Given the description of an element on the screen output the (x, y) to click on. 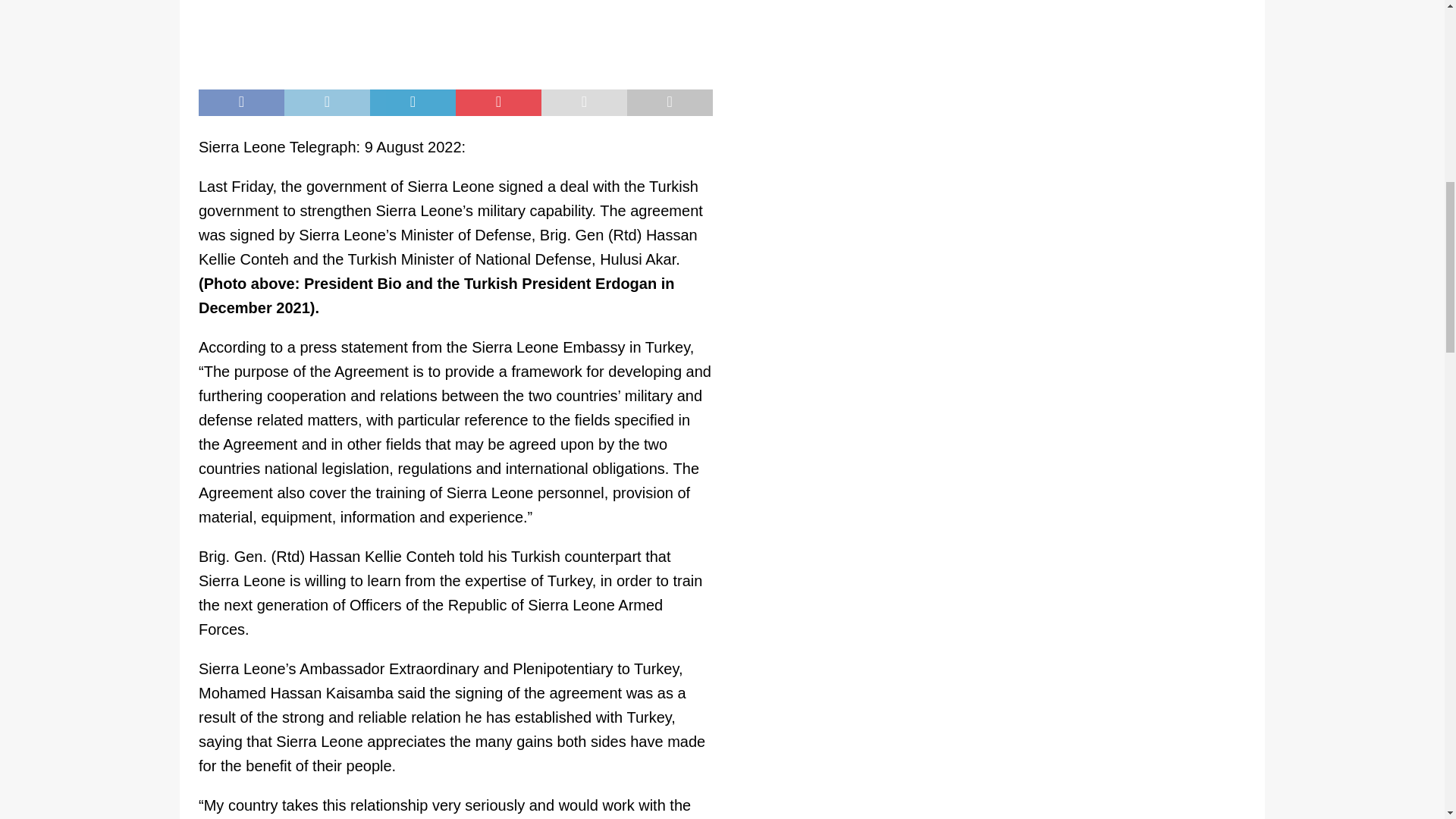
President Bio Addresses Turkey-Africa Partnership Summit 1 (455, 37)
